Given the description of an element on the screen output the (x, y) to click on. 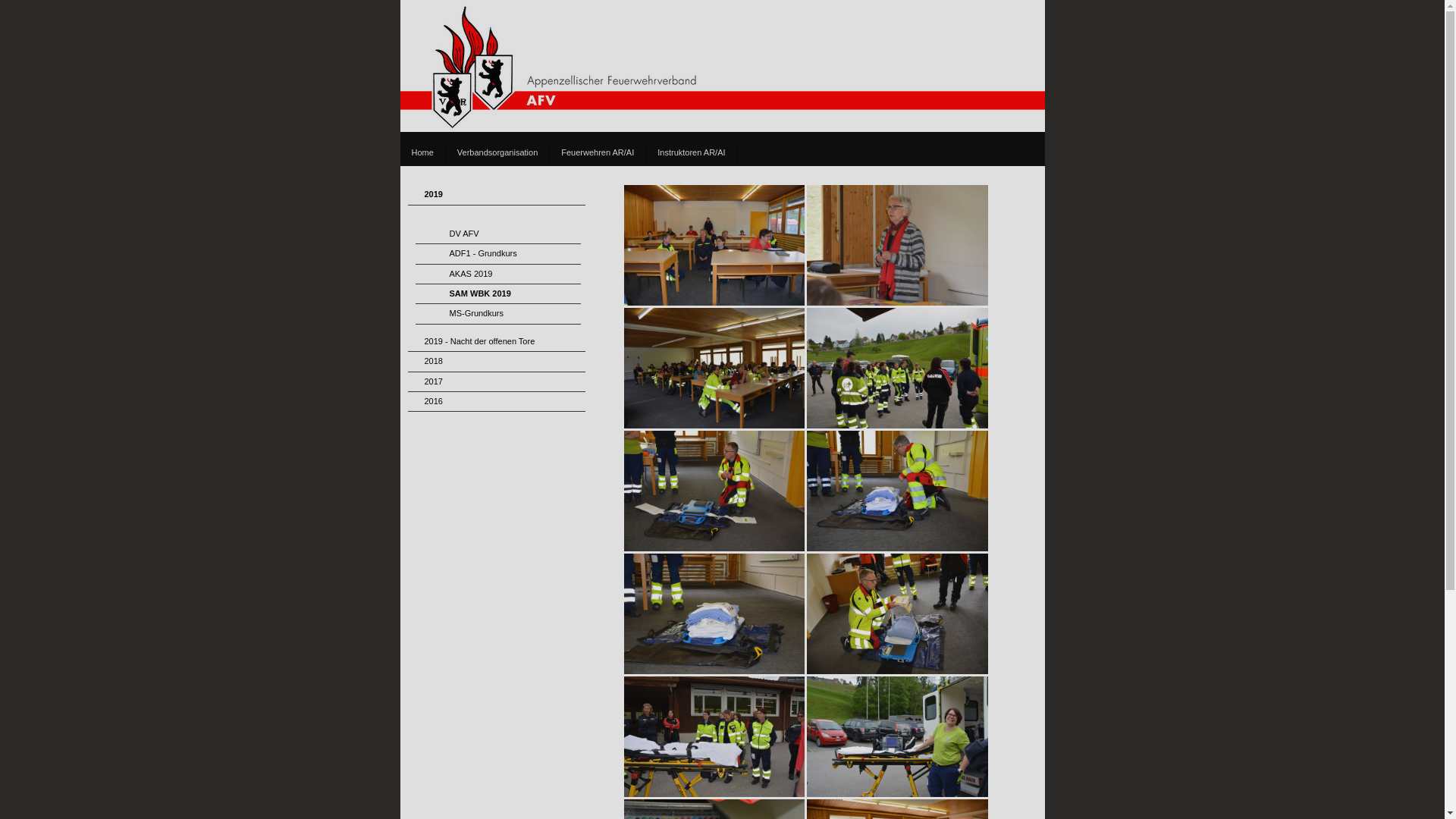
2019 - Nacht der offenen Tore Element type: text (496, 341)
Feuerwehren AR/AI Element type: text (597, 152)
2018 Element type: text (496, 361)
2016 Element type: text (496, 401)
MS-Grundkurs Element type: text (497, 313)
2017 Element type: text (496, 382)
DV AFV Element type: text (497, 234)
AKAS 2019 Element type: text (497, 274)
Home Element type: text (422, 152)
SAM WBK 2019 Element type: text (497, 294)
Instruktoren AR/AI Element type: text (691, 152)
ADF1 - Grundkurs Element type: text (497, 253)
Verbandsorganisation Element type: text (497, 152)
2019 Element type: text (496, 194)
